Given the description of an element on the screen output the (x, y) to click on. 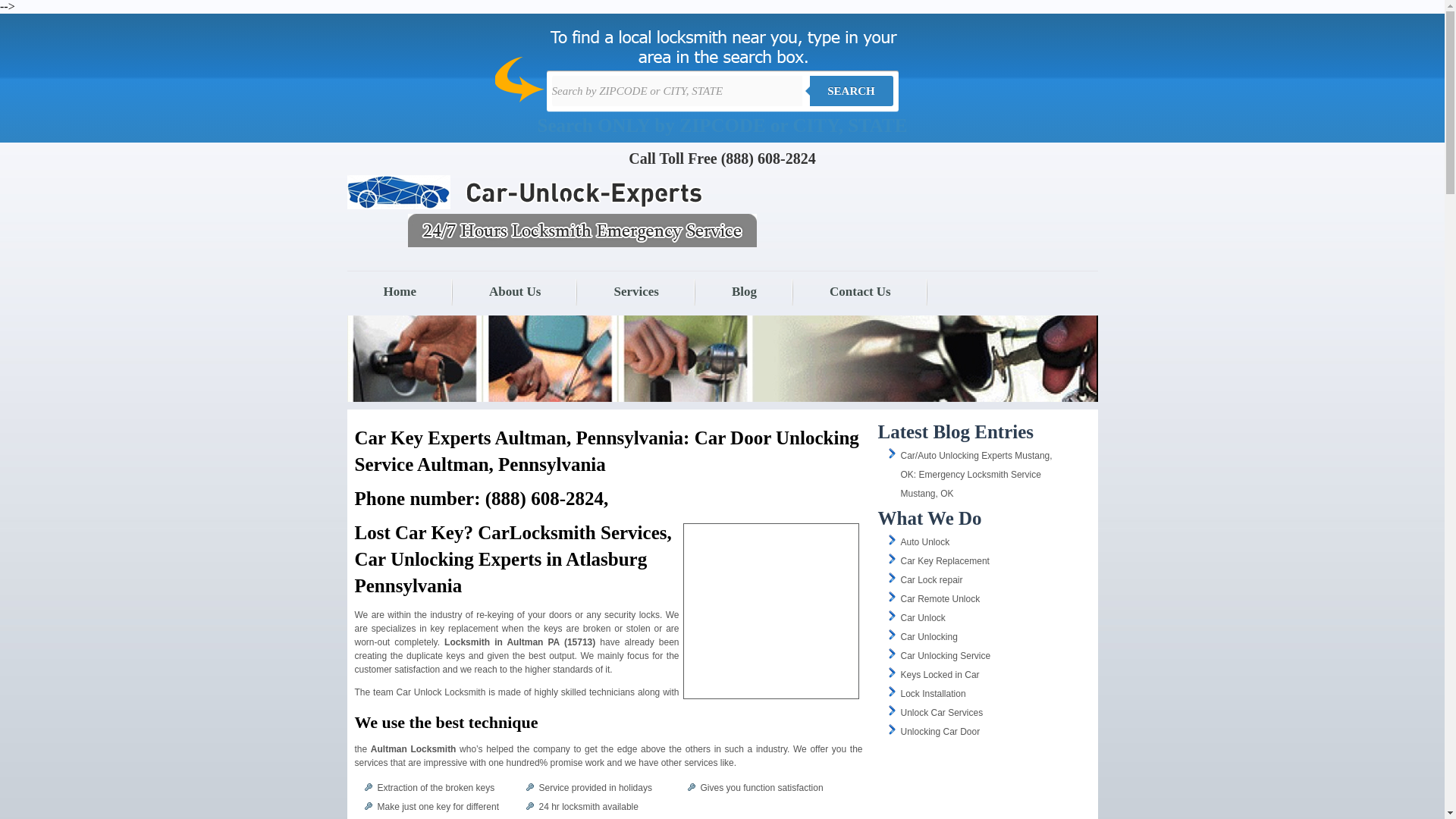
Contact Us (860, 291)
Services (635, 291)
Home (399, 291)
SEARCH (851, 91)
Blog (744, 291)
About Us (515, 291)
